Given the description of an element on the screen output the (x, y) to click on. 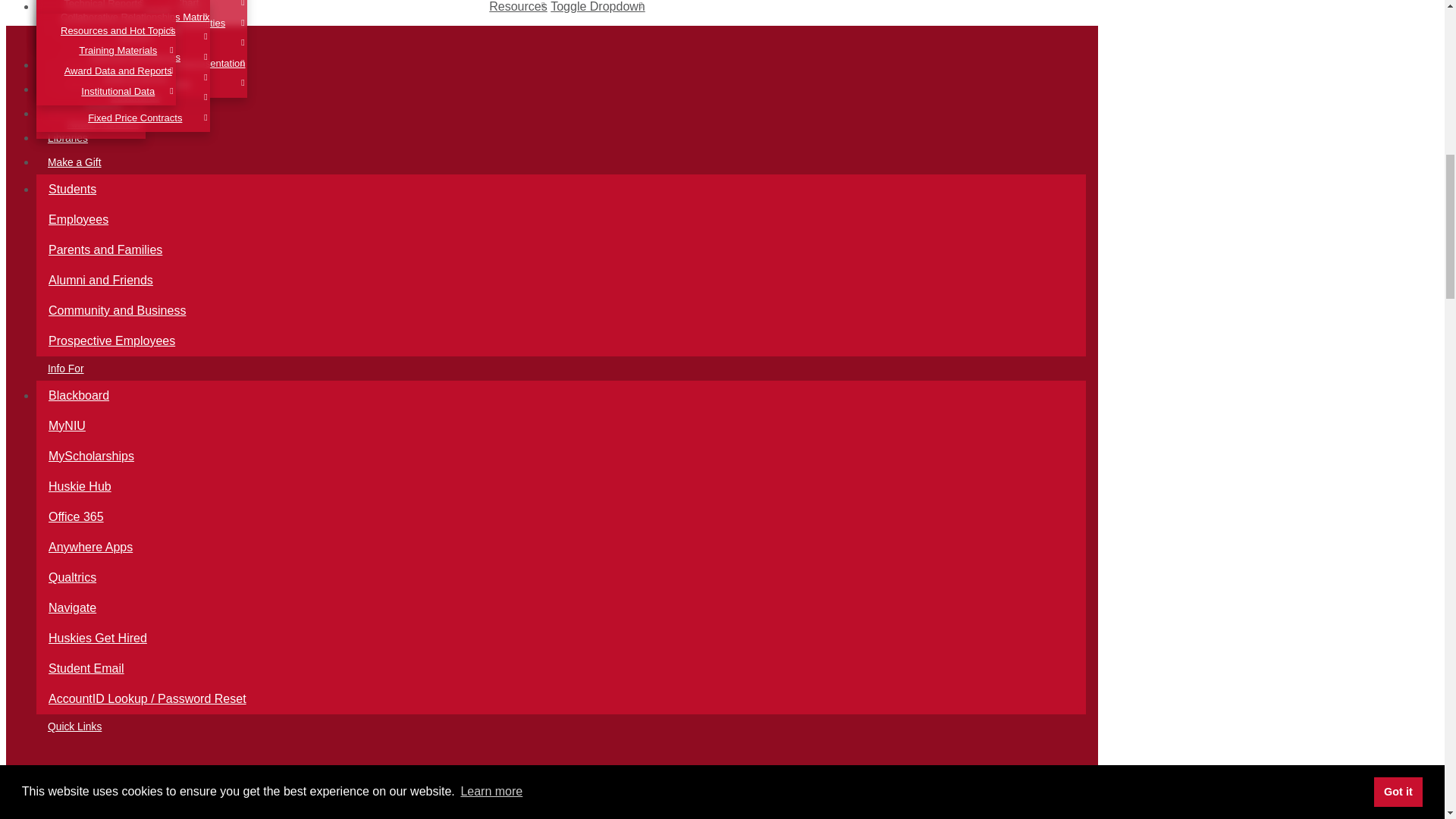
Grant Roles and Responsibilities (153, 23)
Organizational Chart (153, 6)
